Given the description of an element on the screen output the (x, y) to click on. 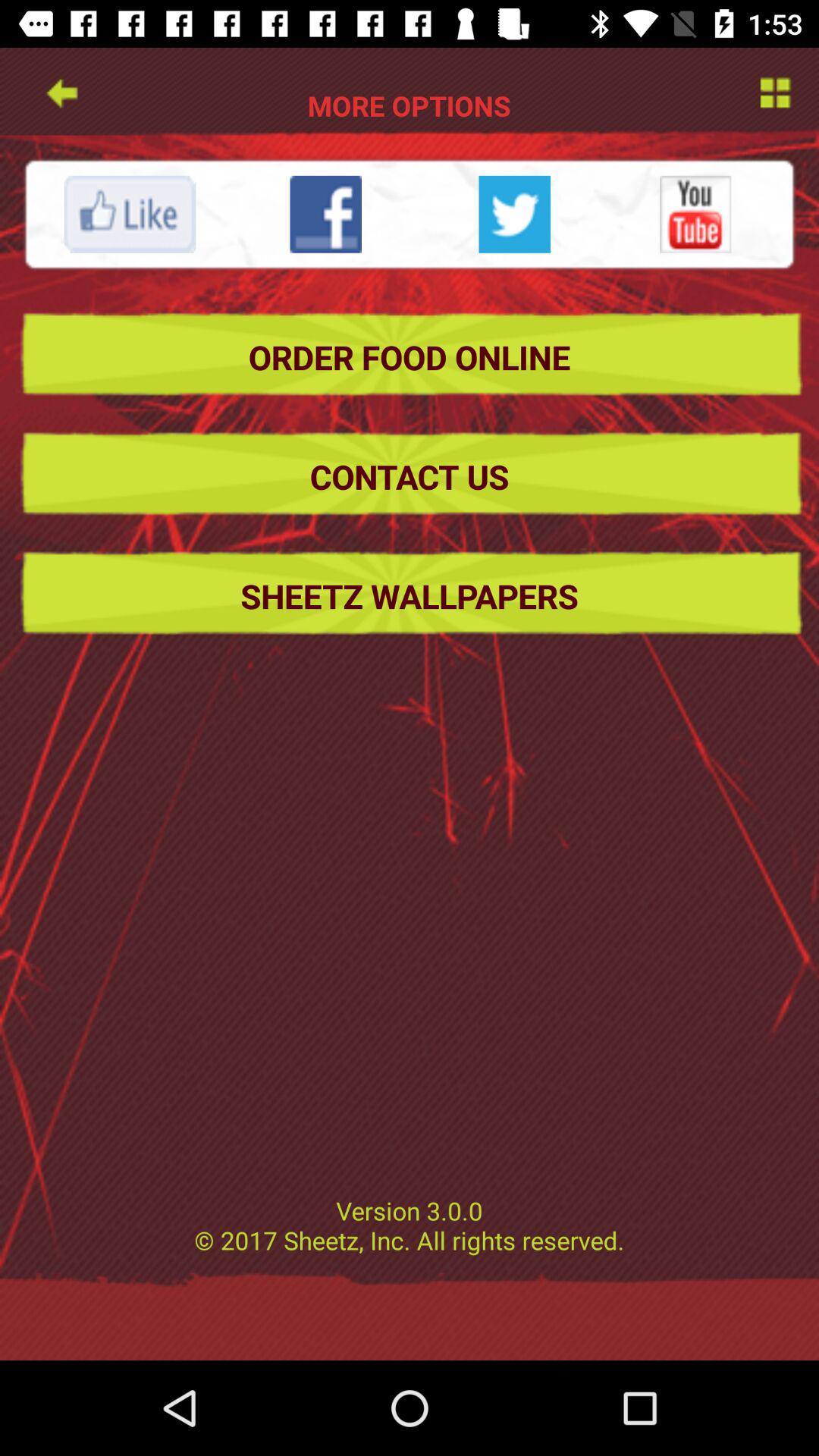
back word (61, 91)
